Given the description of an element on the screen output the (x, y) to click on. 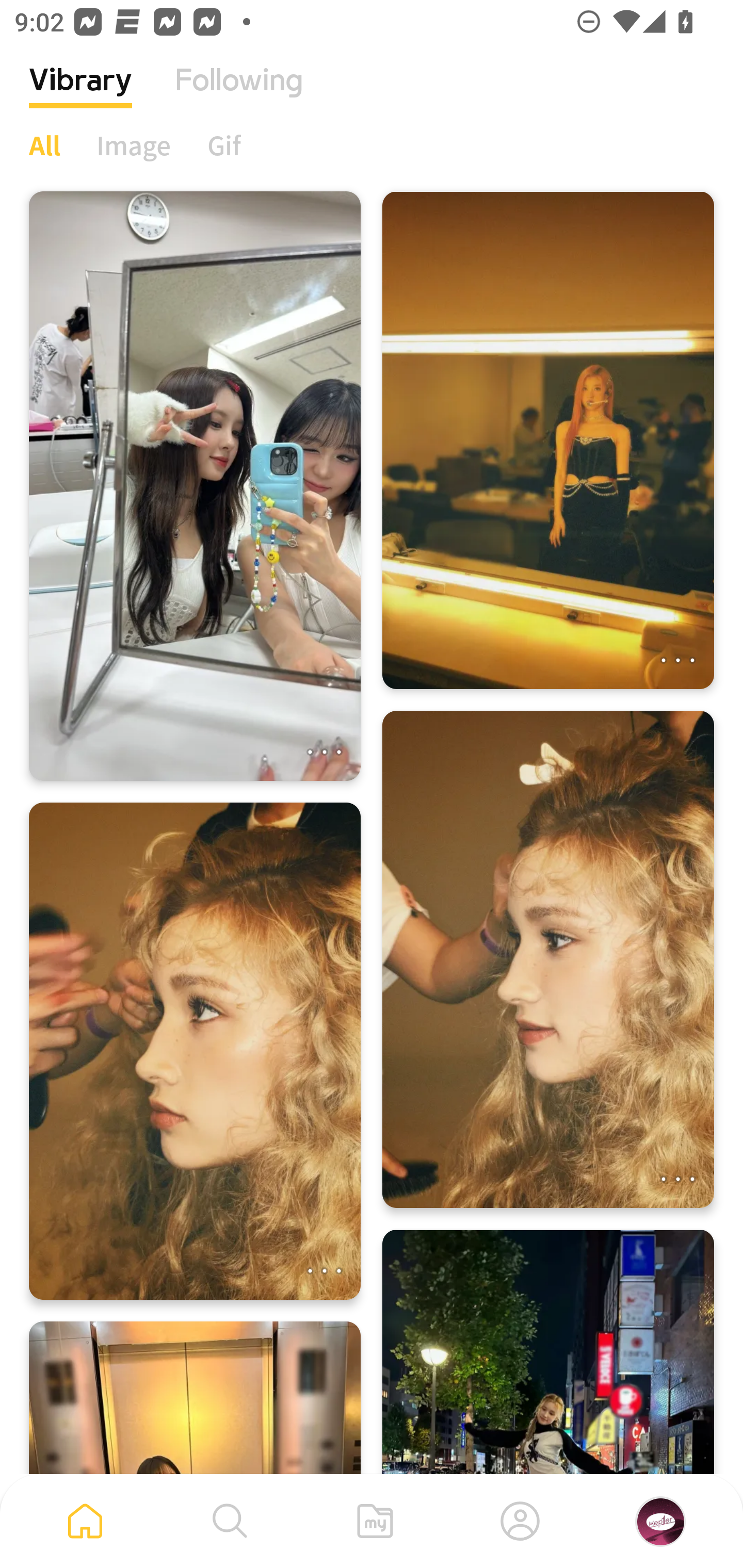
Vibrary (80, 95)
Following (239, 95)
All (44, 145)
Image (133, 145)
Gif (223, 145)
